Given the description of an element on the screen output the (x, y) to click on. 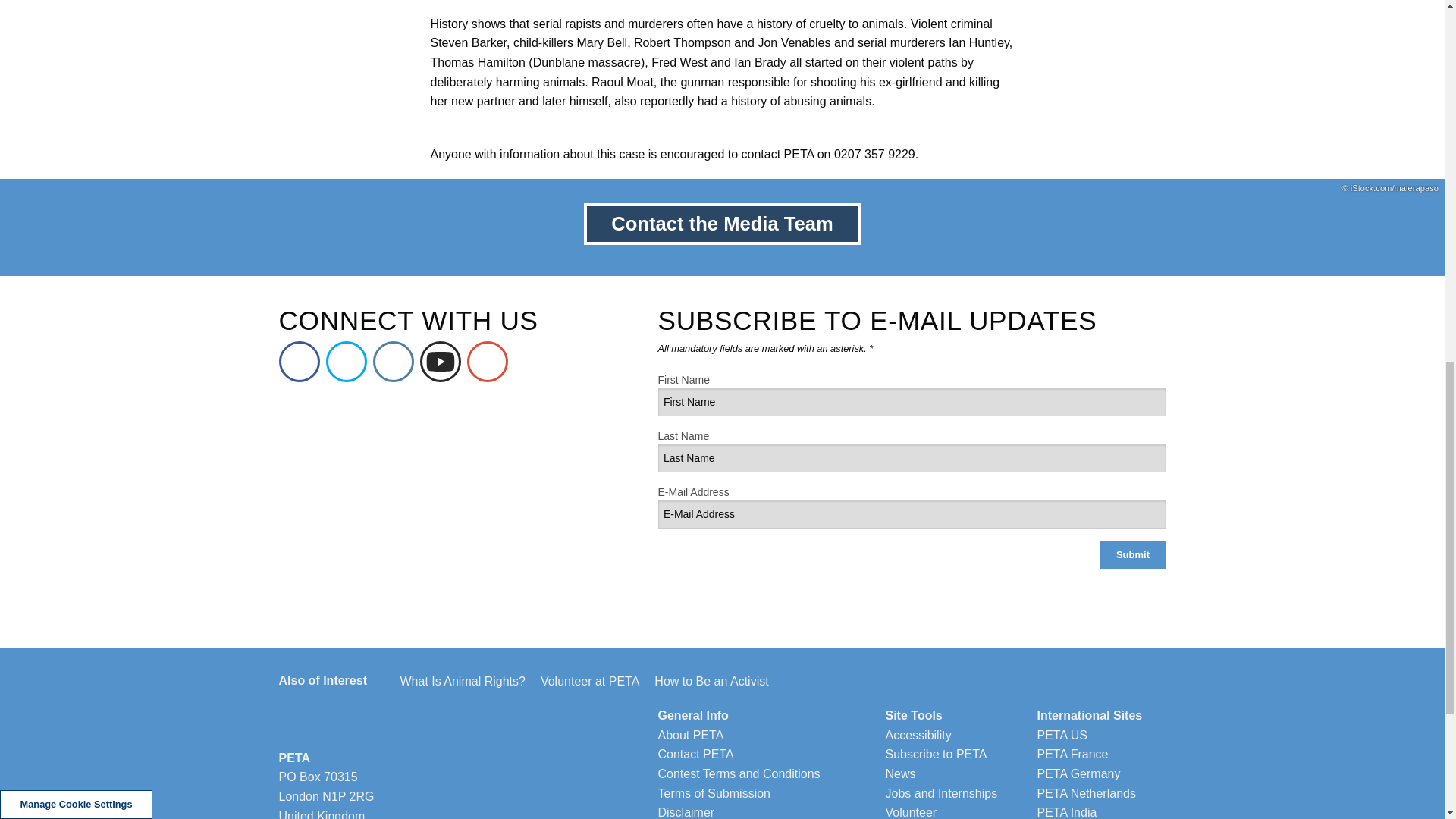
Submit (1132, 554)
